Given the description of an element on the screen output the (x, y) to click on. 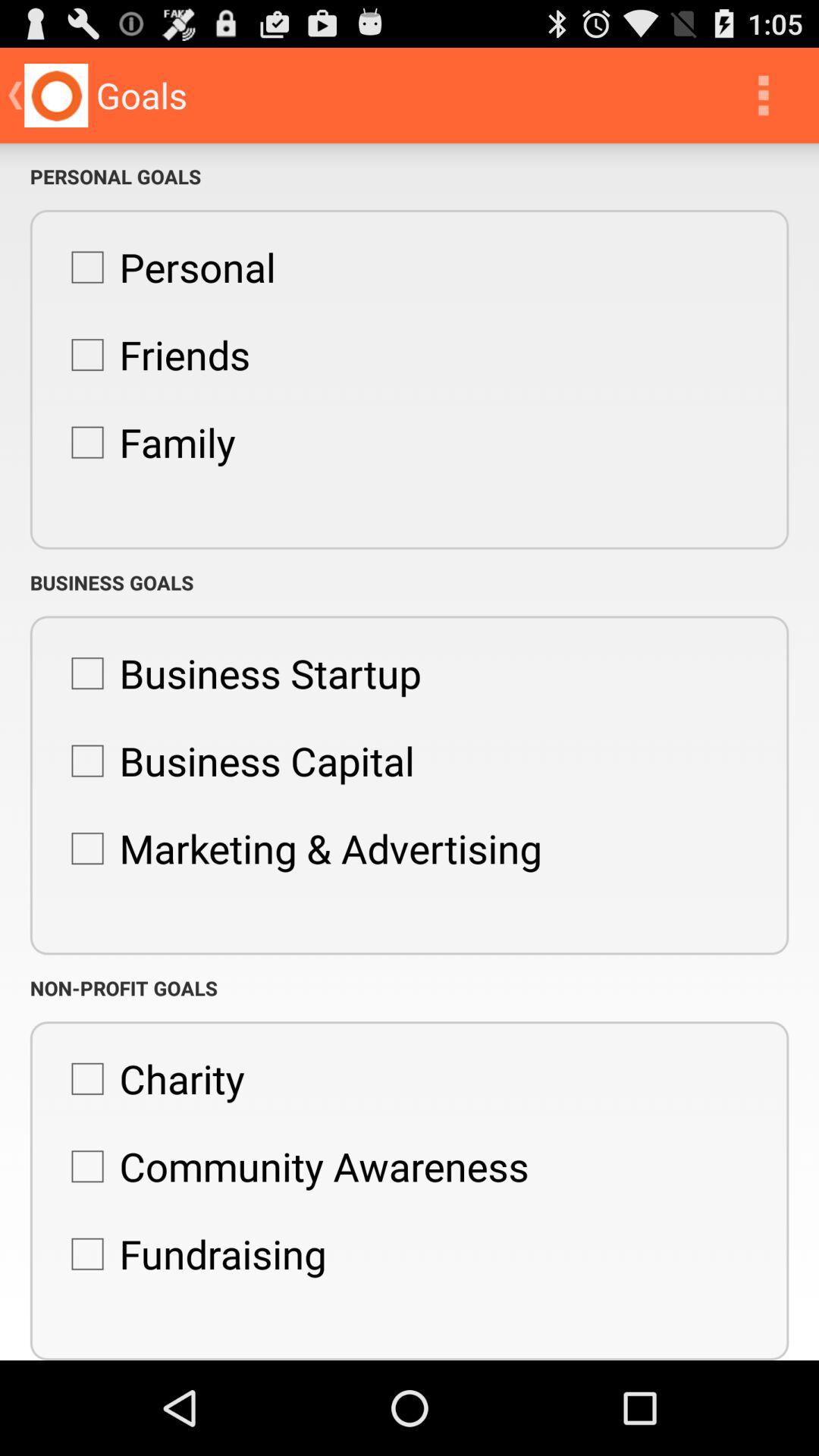
scroll until the family (145, 442)
